Given the description of an element on the screen output the (x, y) to click on. 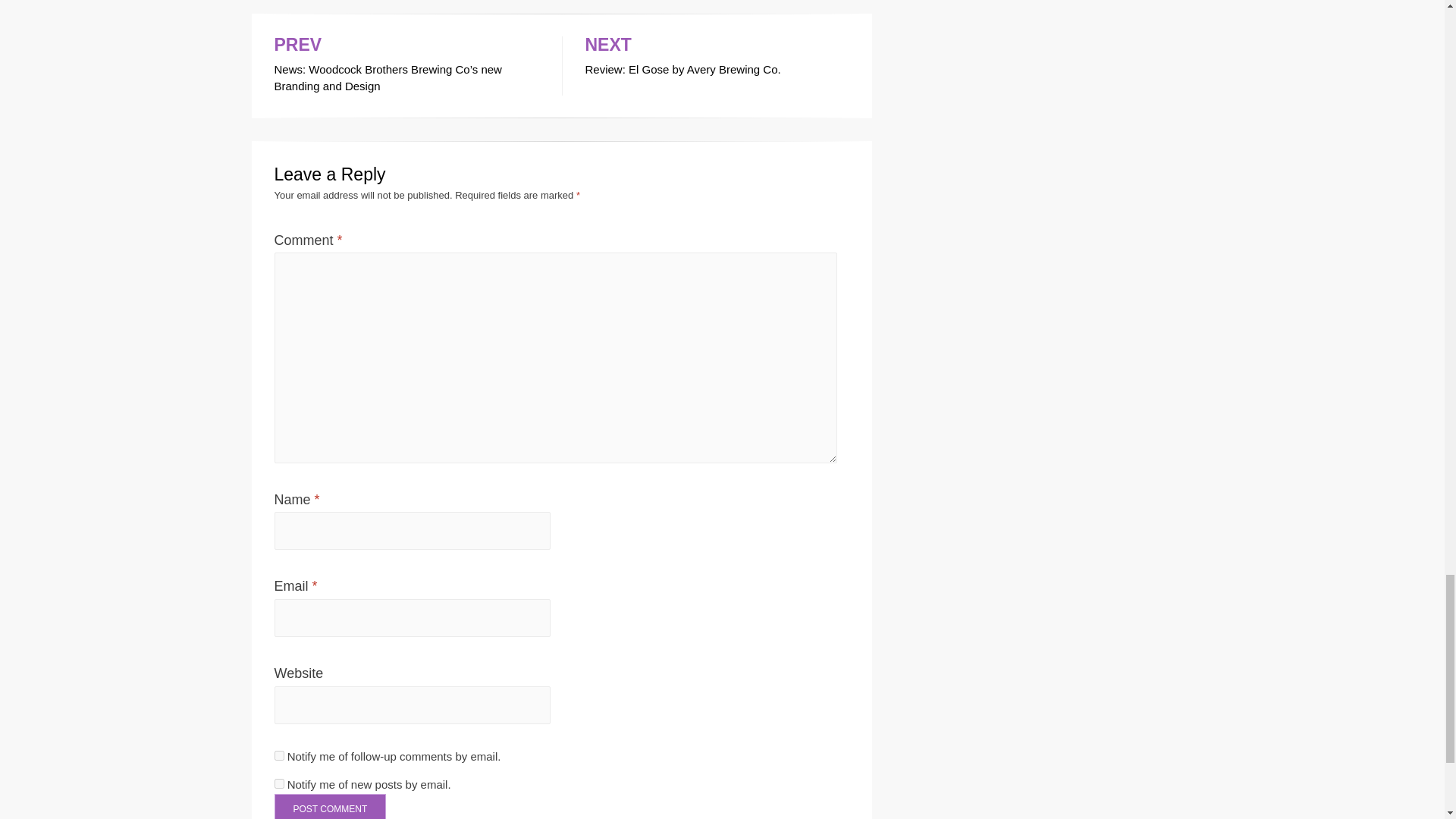
subscribe (279, 755)
Post Comment (331, 806)
subscribe (279, 783)
